Given the description of an element on the screen output the (x, y) to click on. 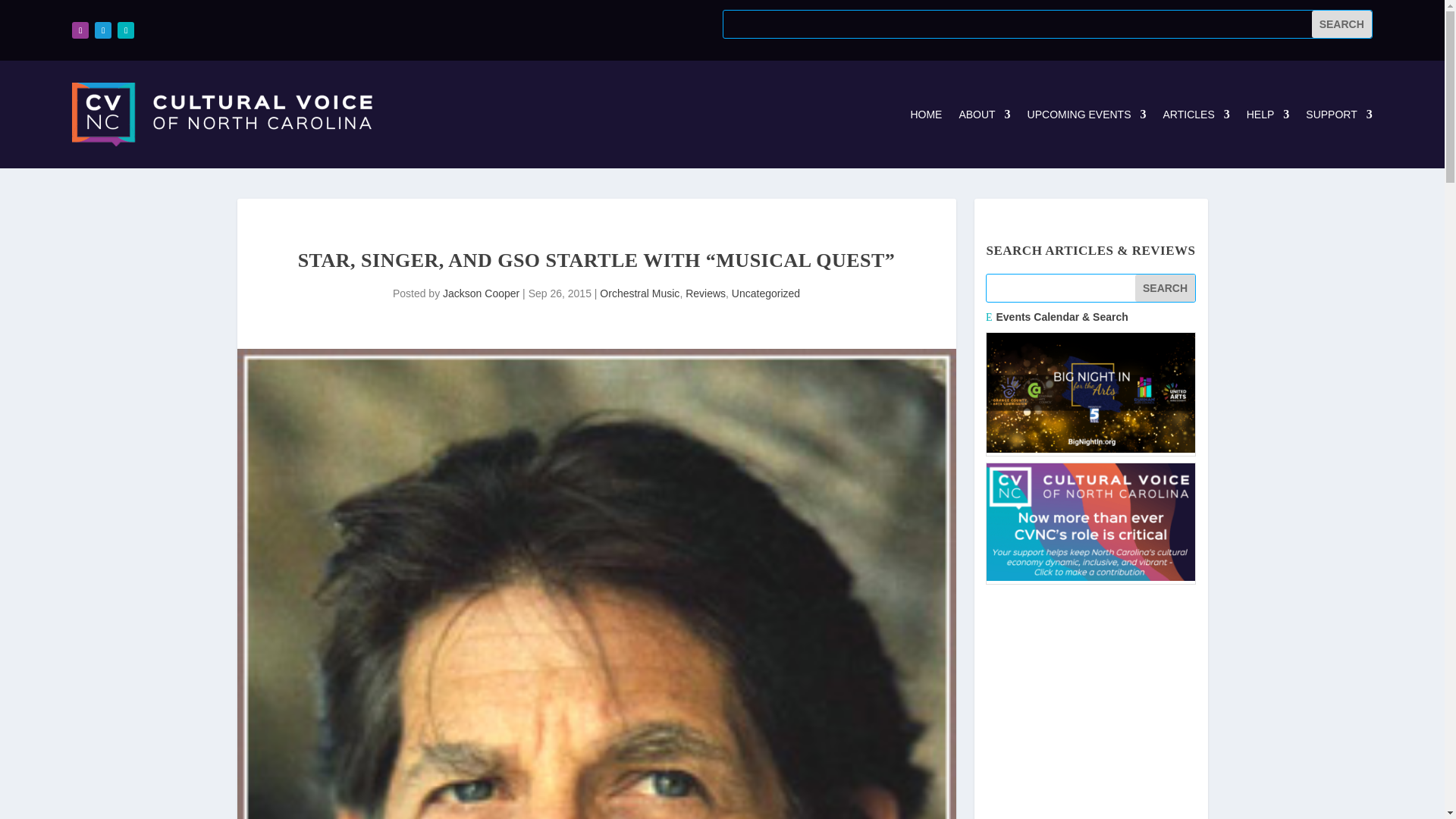
Search (1165, 288)
Follow on Facebook (79, 30)
Follow on LinkedIn (125, 30)
Search (1341, 23)
Posts by Jackson Cooper (480, 293)
Follow on X (103, 30)
ARTICLES (1196, 114)
Search (1165, 288)
SUPPORT (1338, 114)
Search (1341, 23)
